Given the description of an element on the screen output the (x, y) to click on. 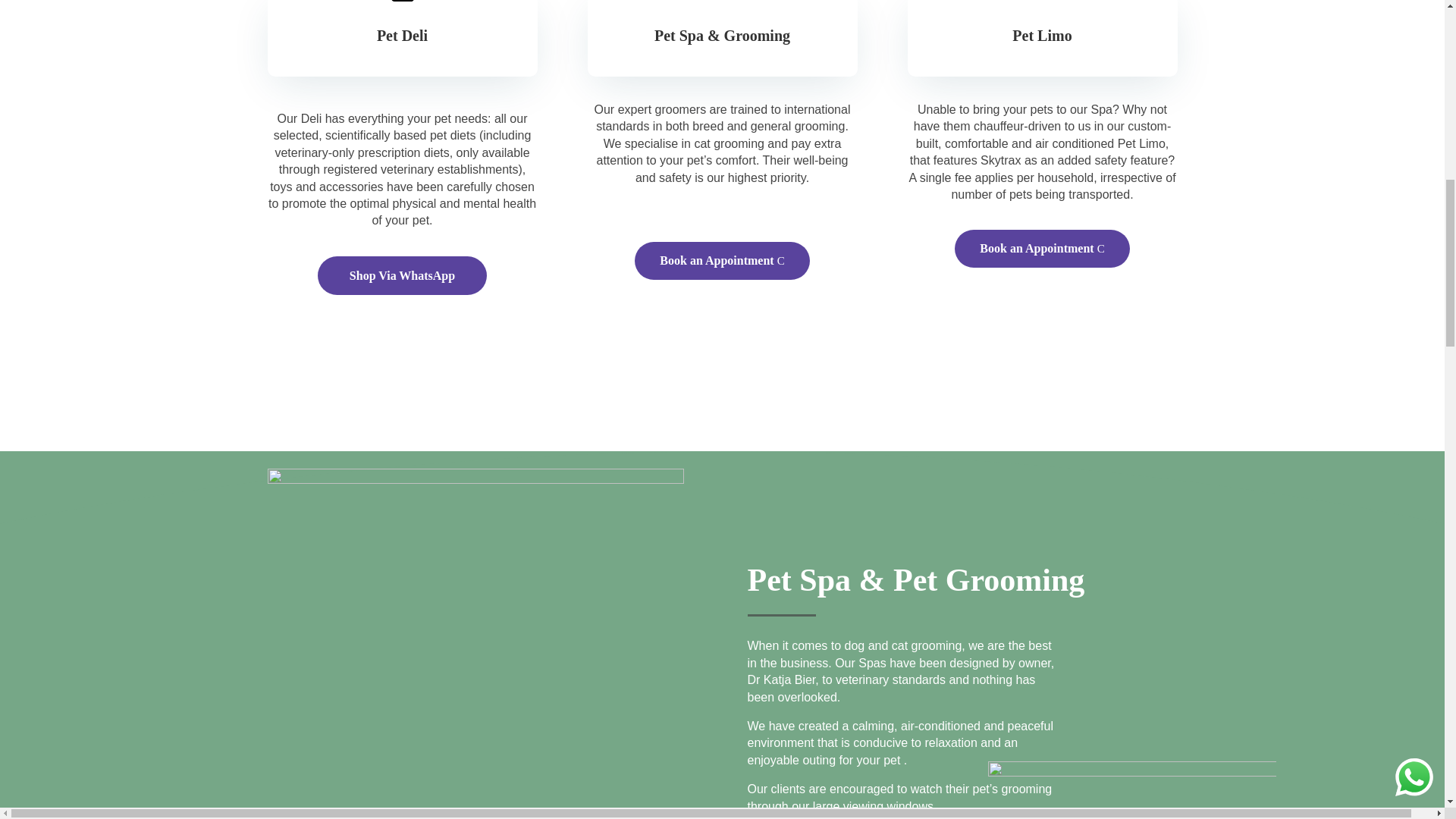
pet-brush (721, 6)
Pet Shop icon (1041, 1)
Pet Shop icon (401, 6)
we-love-cats-at-pet-grooming (1131, 790)
